Given the description of an element on the screen output the (x, y) to click on. 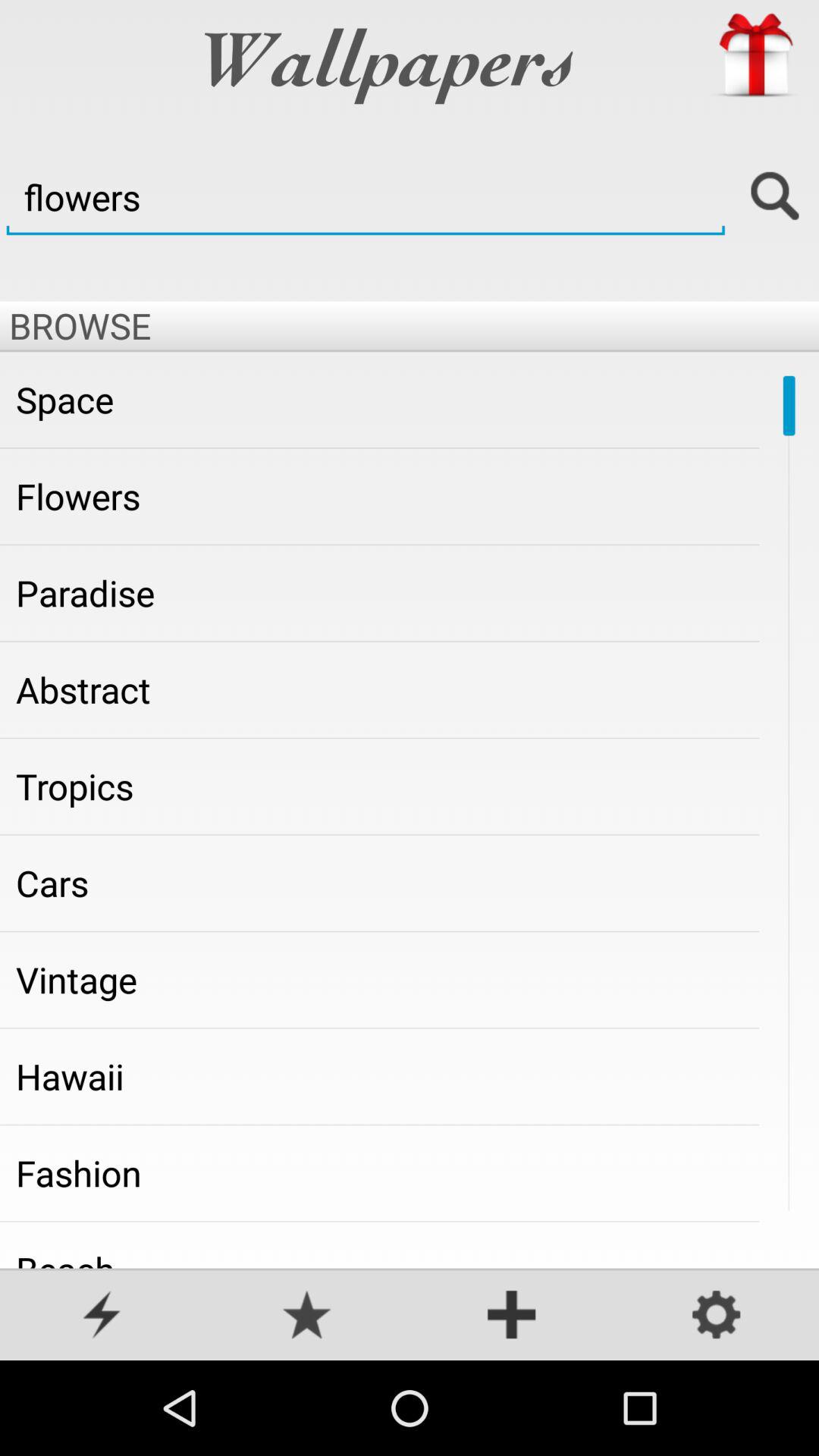
gift box (755, 55)
